Given the description of an element on the screen output the (x, y) to click on. 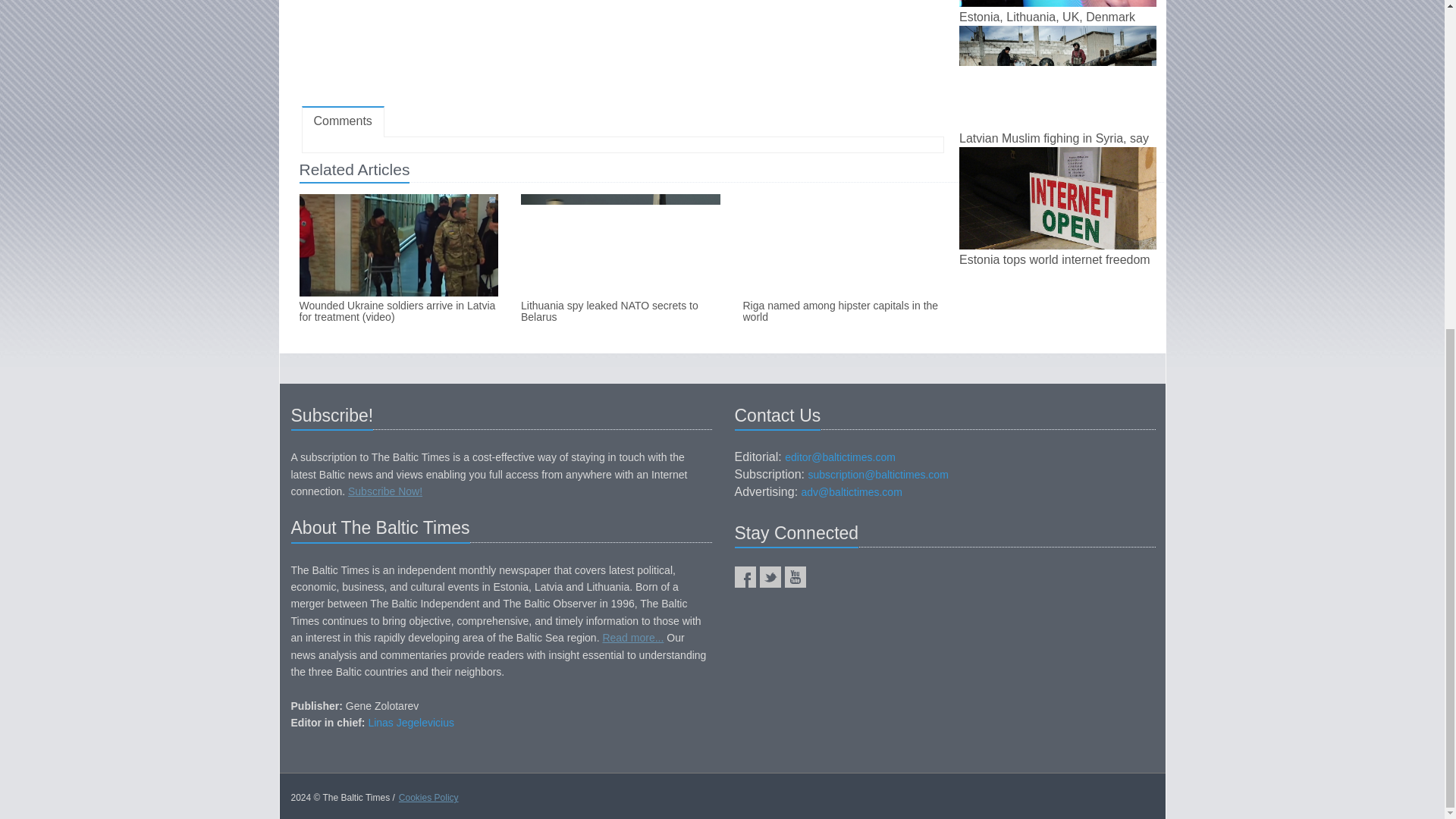
Riga named among hipster capitals in the world (842, 311)
Comments (342, 121)
Lithuania spy leaked NATO secrets to Belarus (620, 311)
